Given the description of an element on the screen output the (x, y) to click on. 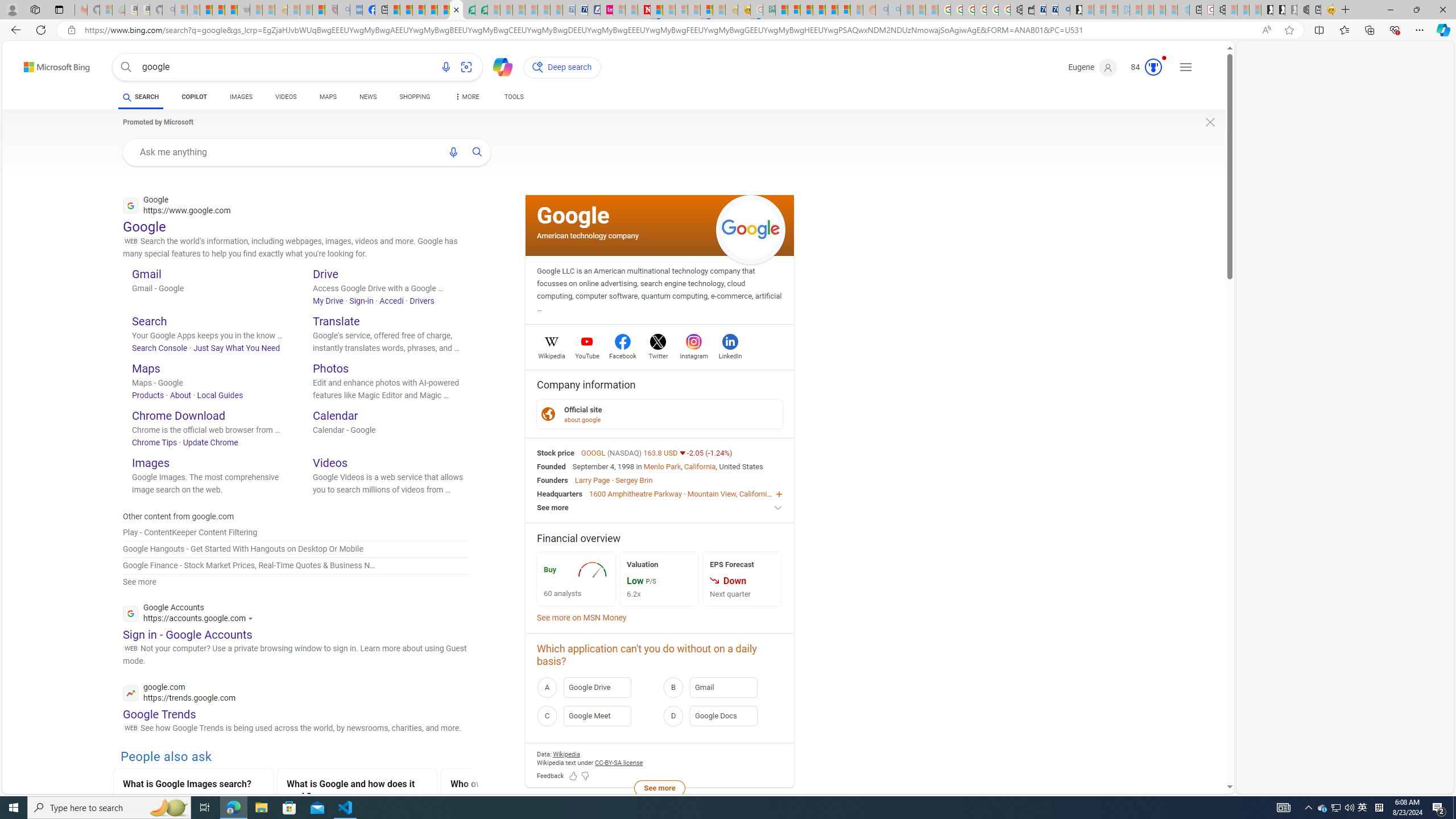
Ask me anything (285, 151)
COPILOT (193, 98)
TOOLS (512, 96)
Twitter (658, 354)
Local Guides (219, 394)
